Given the description of an element on the screen output the (x, y) to click on. 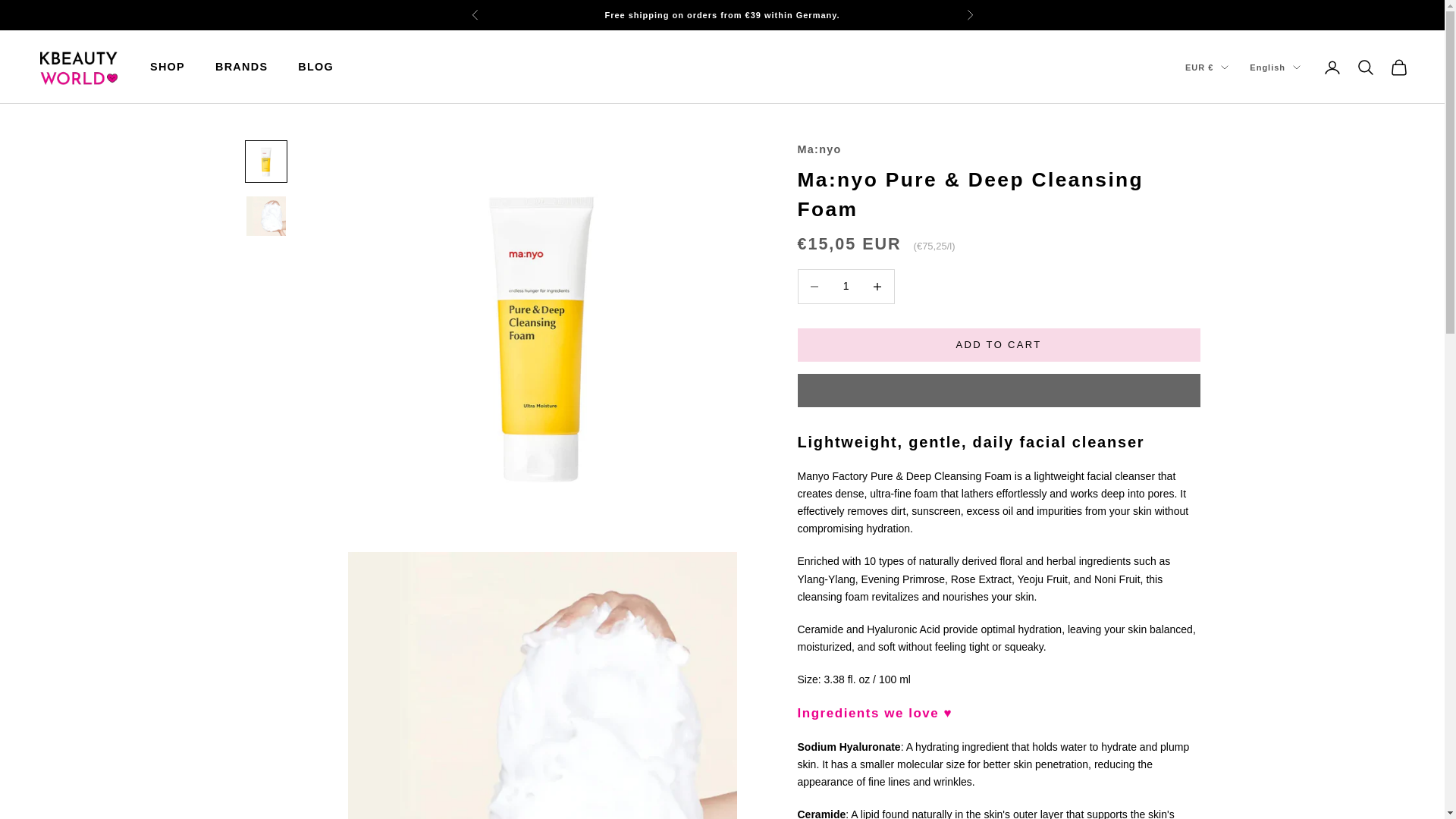
Next (968, 15)
K Beauty World (77, 67)
Previous (474, 15)
1 (846, 286)
